Given the description of an element on the screen output the (x, y) to click on. 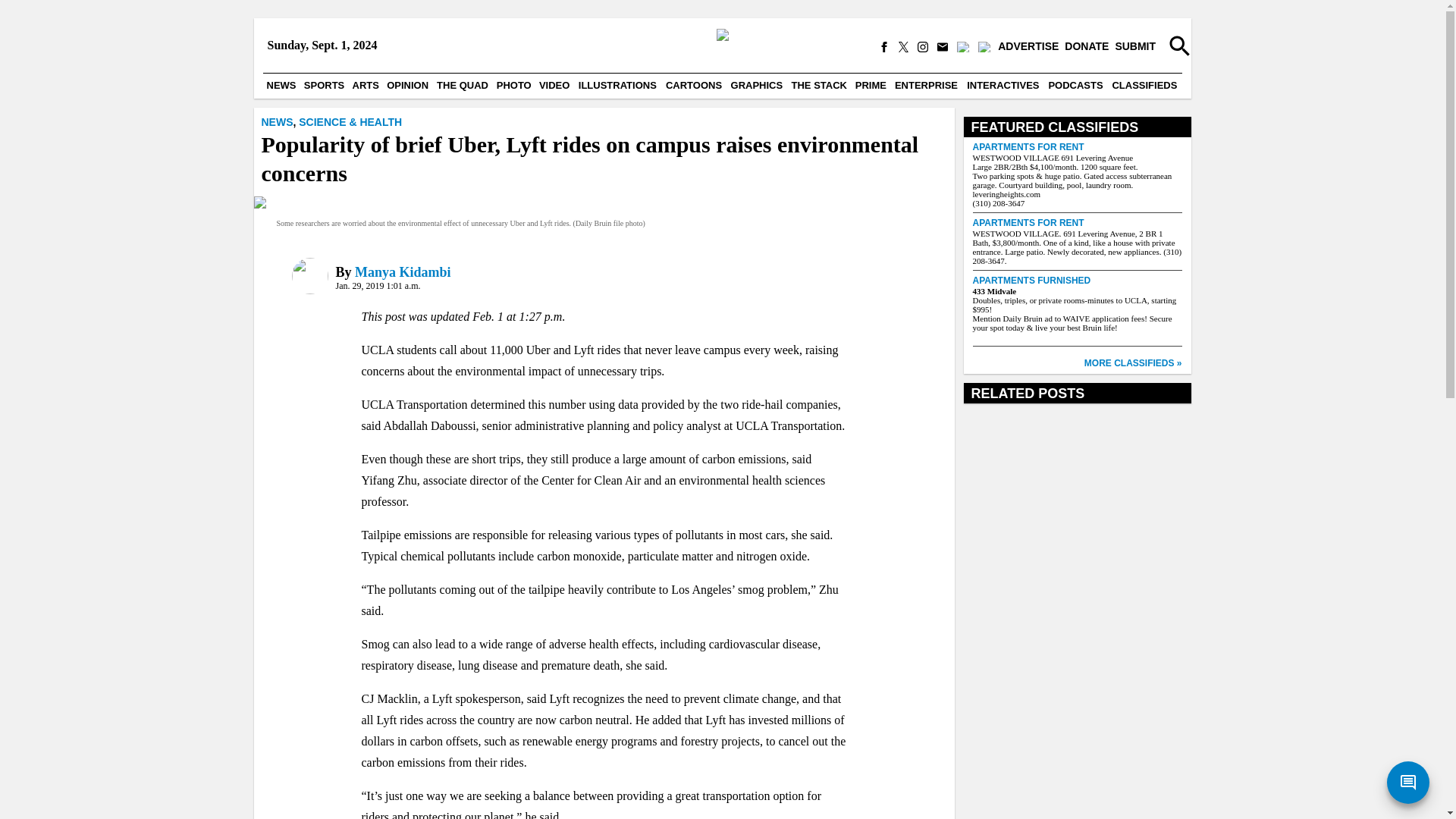
ENTERPRISE (925, 85)
SUBMIT (1135, 46)
Manya Kidambi (403, 271)
DONATE (1086, 46)
INTERACTIVES (1002, 85)
VIDEO (554, 85)
GRAPHICS (756, 85)
CLASSIFIEDS (1143, 85)
OPINION (407, 85)
ARTS (365, 85)
